Given the description of an element on the screen output the (x, y) to click on. 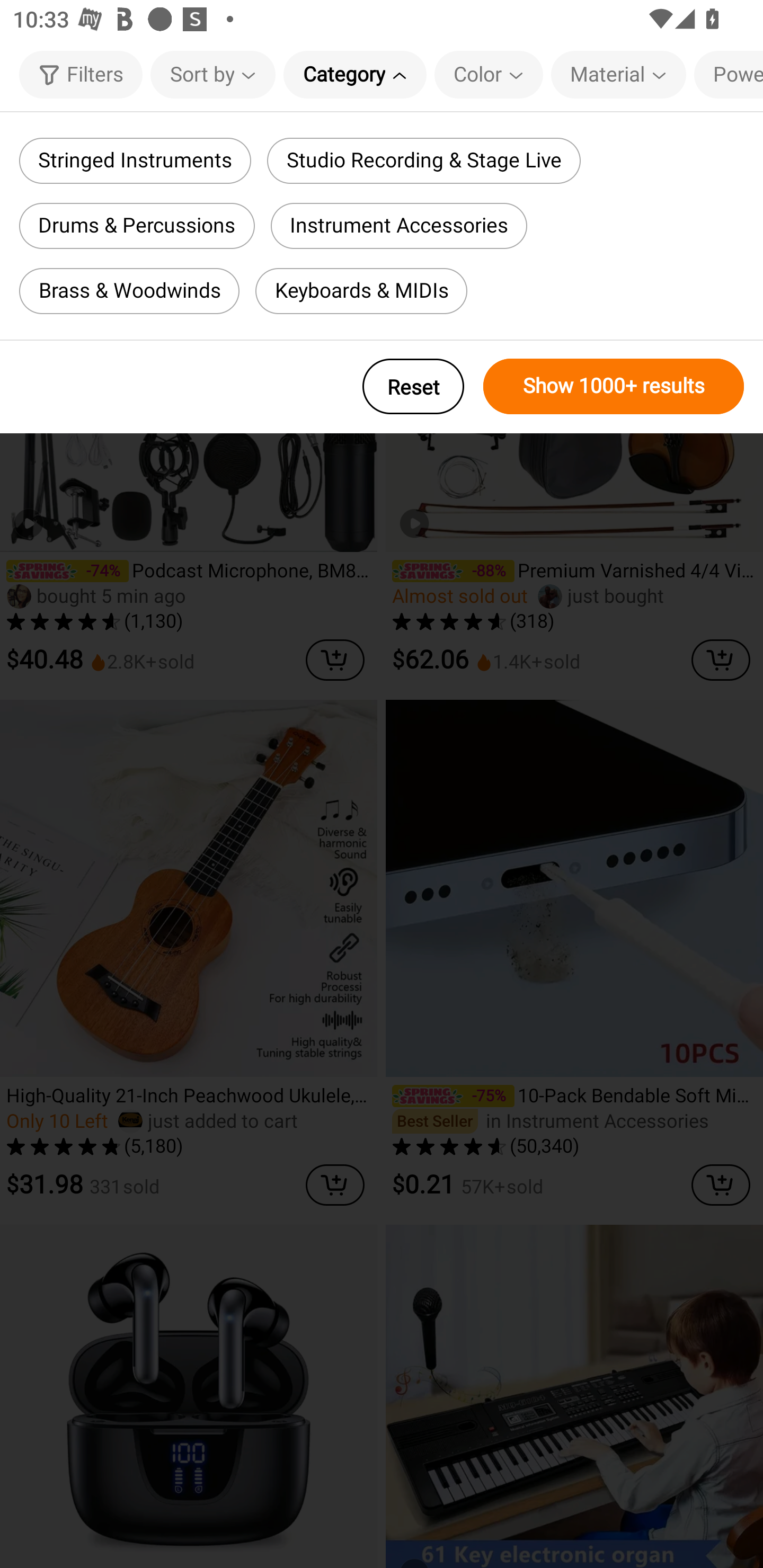
Filters (80, 74)
Sort by (212, 74)
Category (354, 74)
Color (488, 74)
Material (617, 74)
Stringed Instruments (135, 160)
Studio Recording & Stage Live (423, 160)
Drums & Percussions (136, 225)
Instrument Accessories (398, 225)
Brass & Woodwinds (129, 290)
Keyboards & MIDIs (360, 290)
Reset (412, 386)
Show 1000+ results (612, 386)
